Given the description of an element on the screen output the (x, y) to click on. 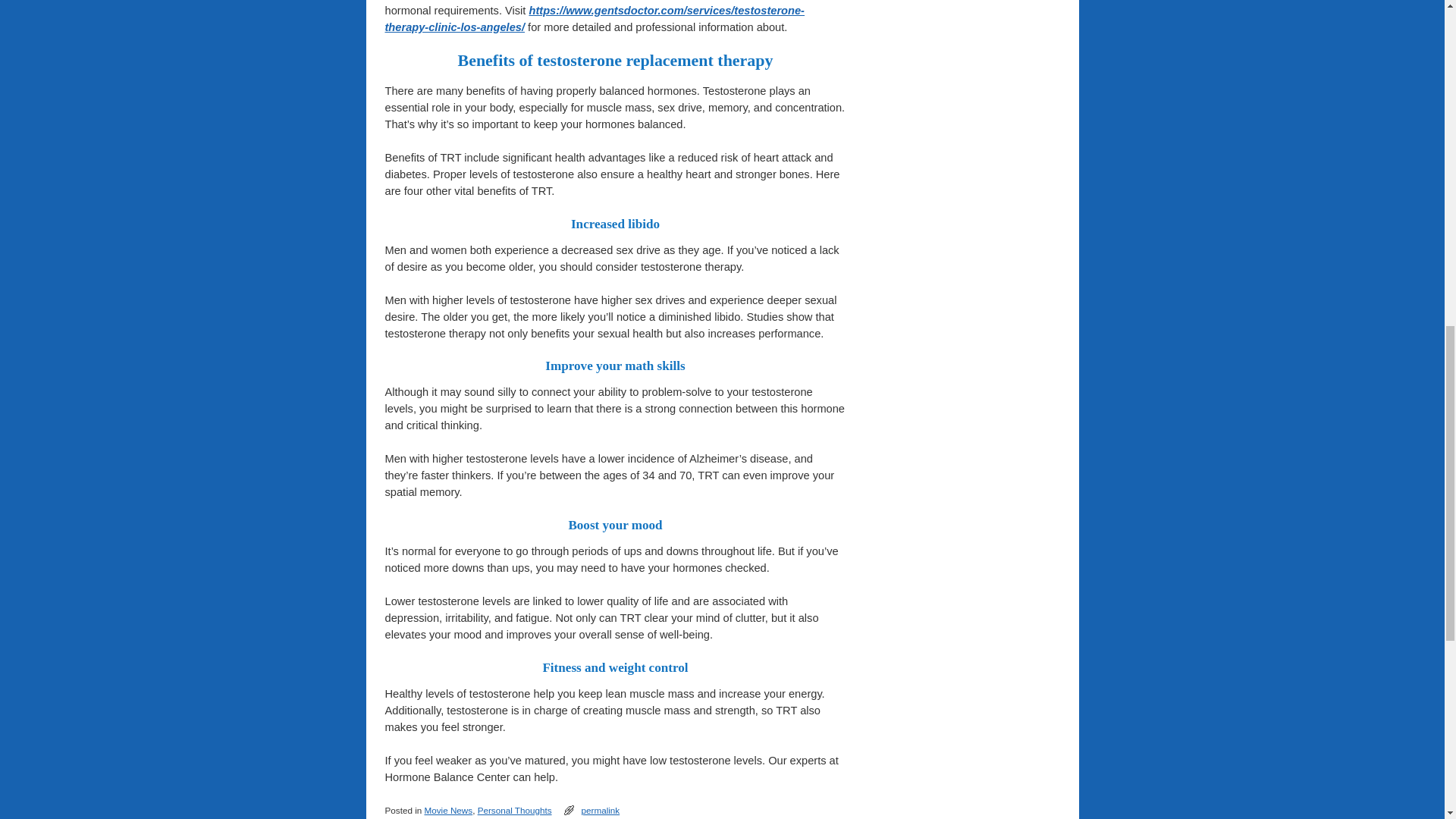
Movie News (447, 809)
Personal Thoughts (514, 809)
Permalink to Forward On-Line (600, 809)
permalink (600, 809)
